Given the description of an element on the screen output the (x, y) to click on. 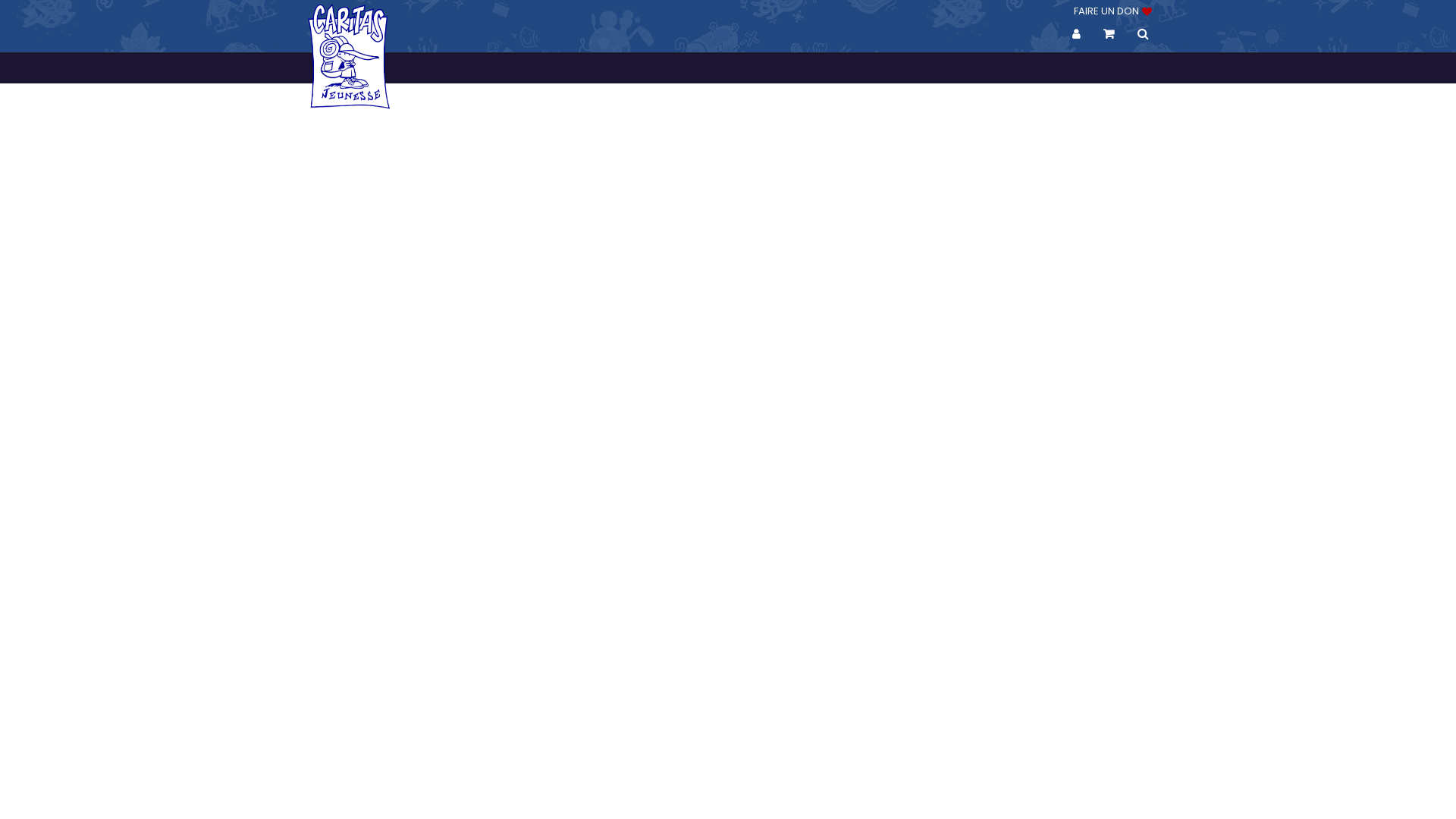
FAIRE UN DON Element type: text (1110, 11)
